Given the description of an element on the screen output the (x, y) to click on. 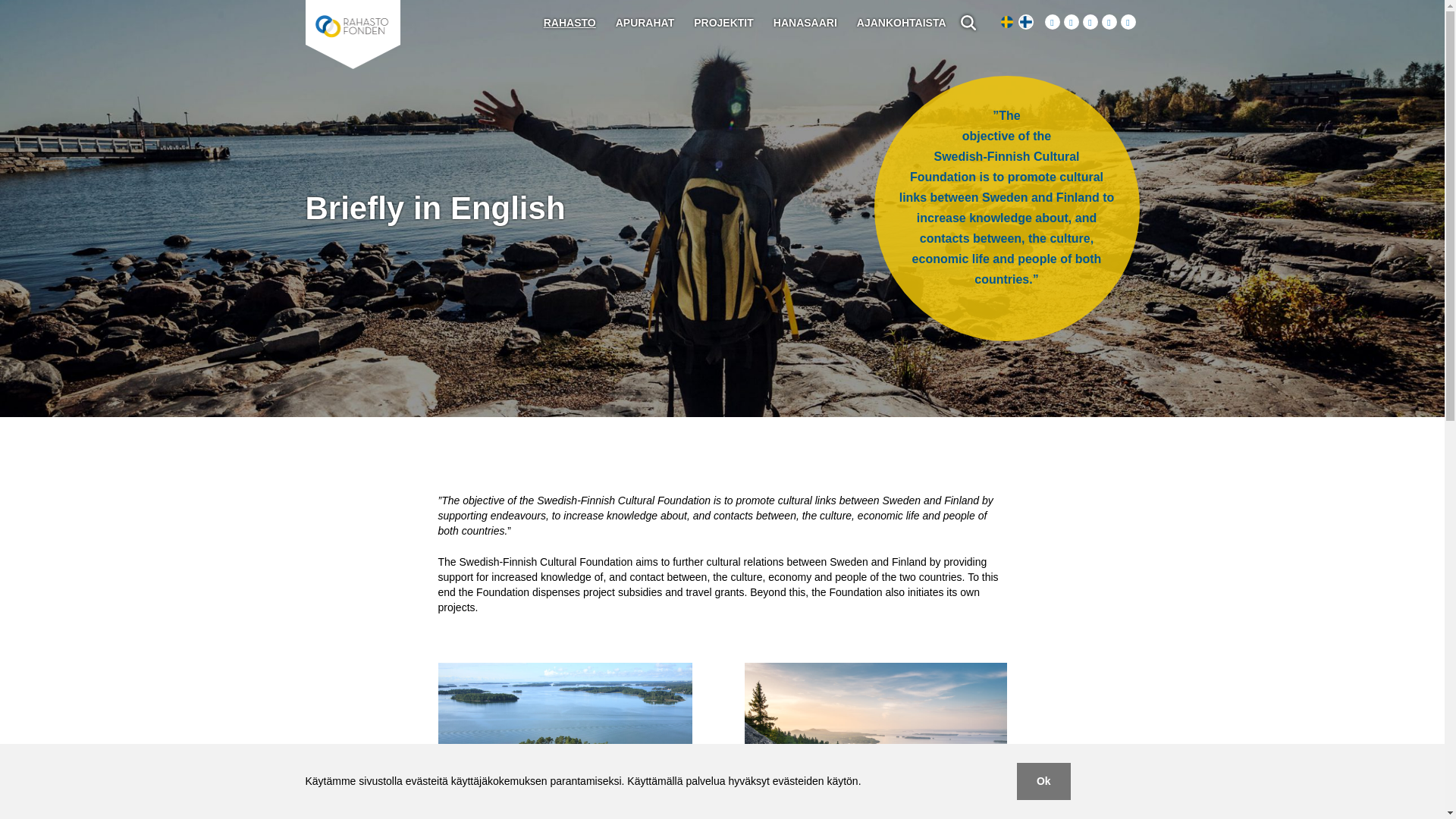
RAHASTO (569, 22)
APURAHAT (645, 22)
PROJEKTIT (724, 22)
HANASAARI (805, 22)
AJANKOHTAISTA (901, 22)
